Given the description of an element on the screen output the (x, y) to click on. 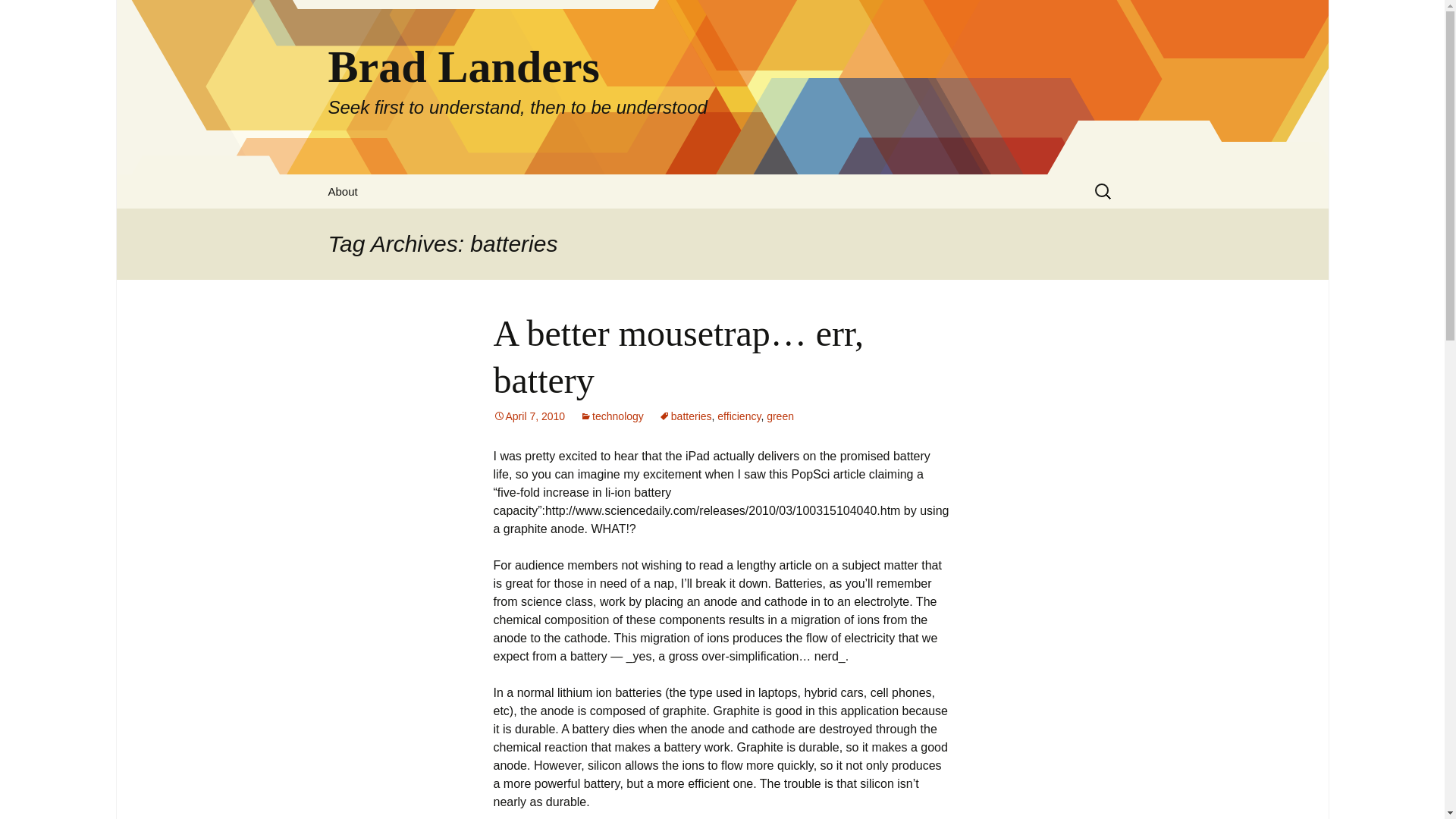
efficiency (738, 416)
batteries (685, 416)
About (342, 191)
Search (528, 416)
technology (18, 15)
Skip to content (611, 416)
